Given the description of an element on the screen output the (x, y) to click on. 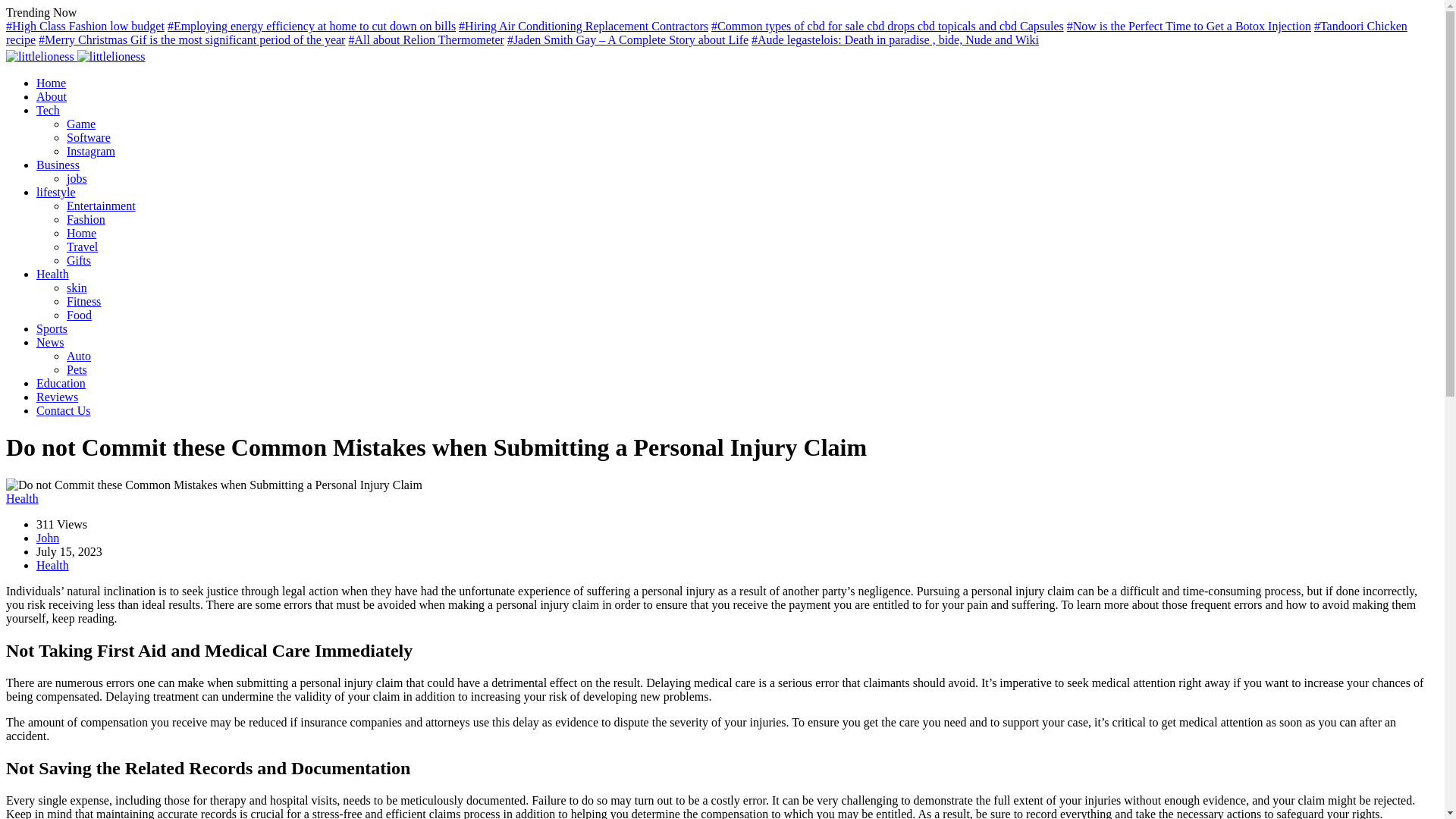
Home (81, 232)
Education (60, 382)
Tech (47, 110)
jobs (76, 178)
Game (81, 123)
Health (22, 498)
News (50, 341)
Contact Us (63, 410)
Travel (81, 246)
Sports (51, 328)
